Given the description of an element on the screen output the (x, y) to click on. 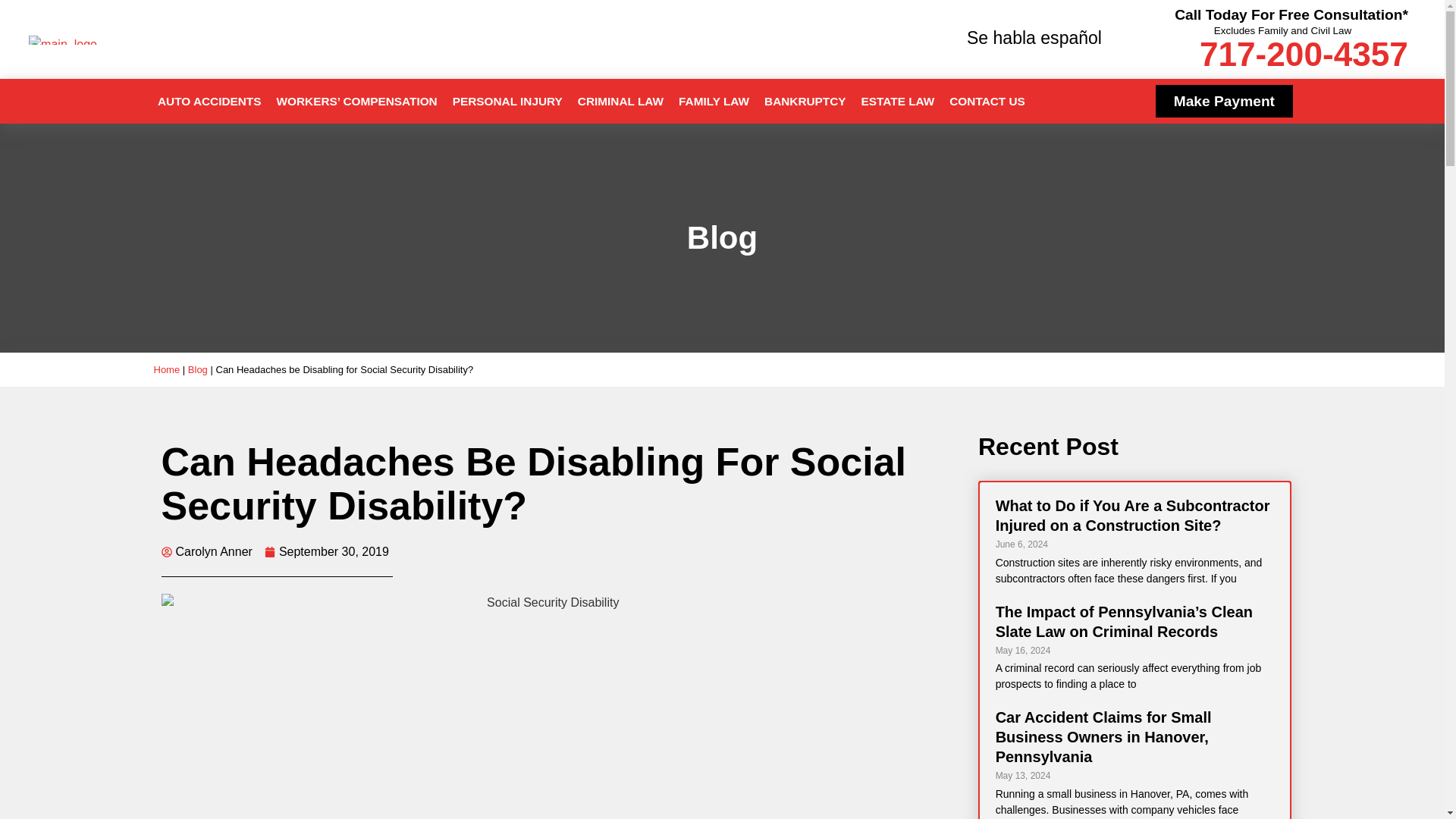
PERSONAL INJURY (507, 101)
FAMILY LAW (714, 101)
AUTO ACCIDENTS (209, 101)
Excludes Family and Civil Law (1282, 30)
717-200-4357 (1303, 54)
CRIMINAL LAW (620, 101)
